Given the description of an element on the screen output the (x, y) to click on. 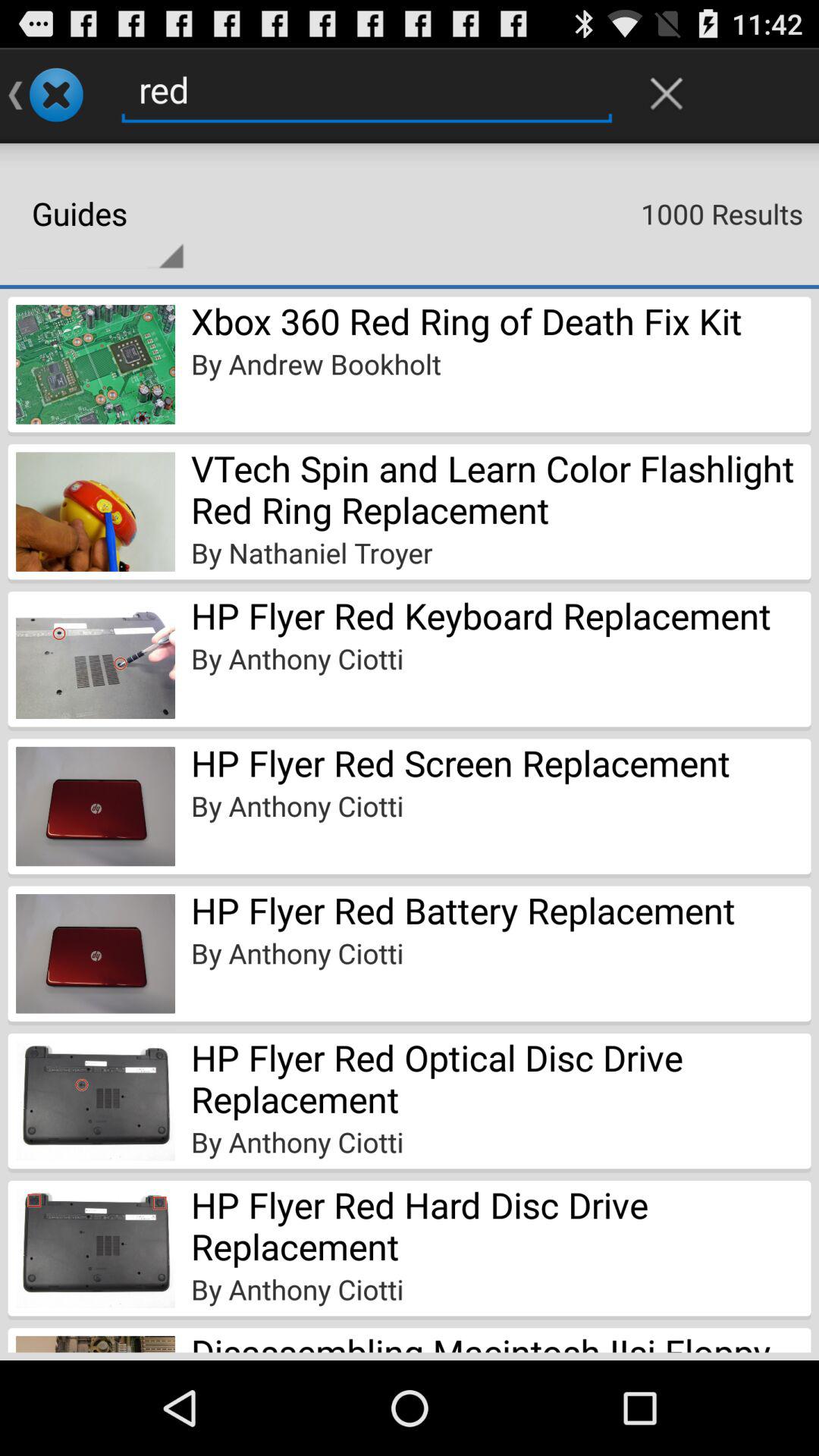
choose the by andrew bookholt (316, 363)
